Given the description of an element on the screen output the (x, y) to click on. 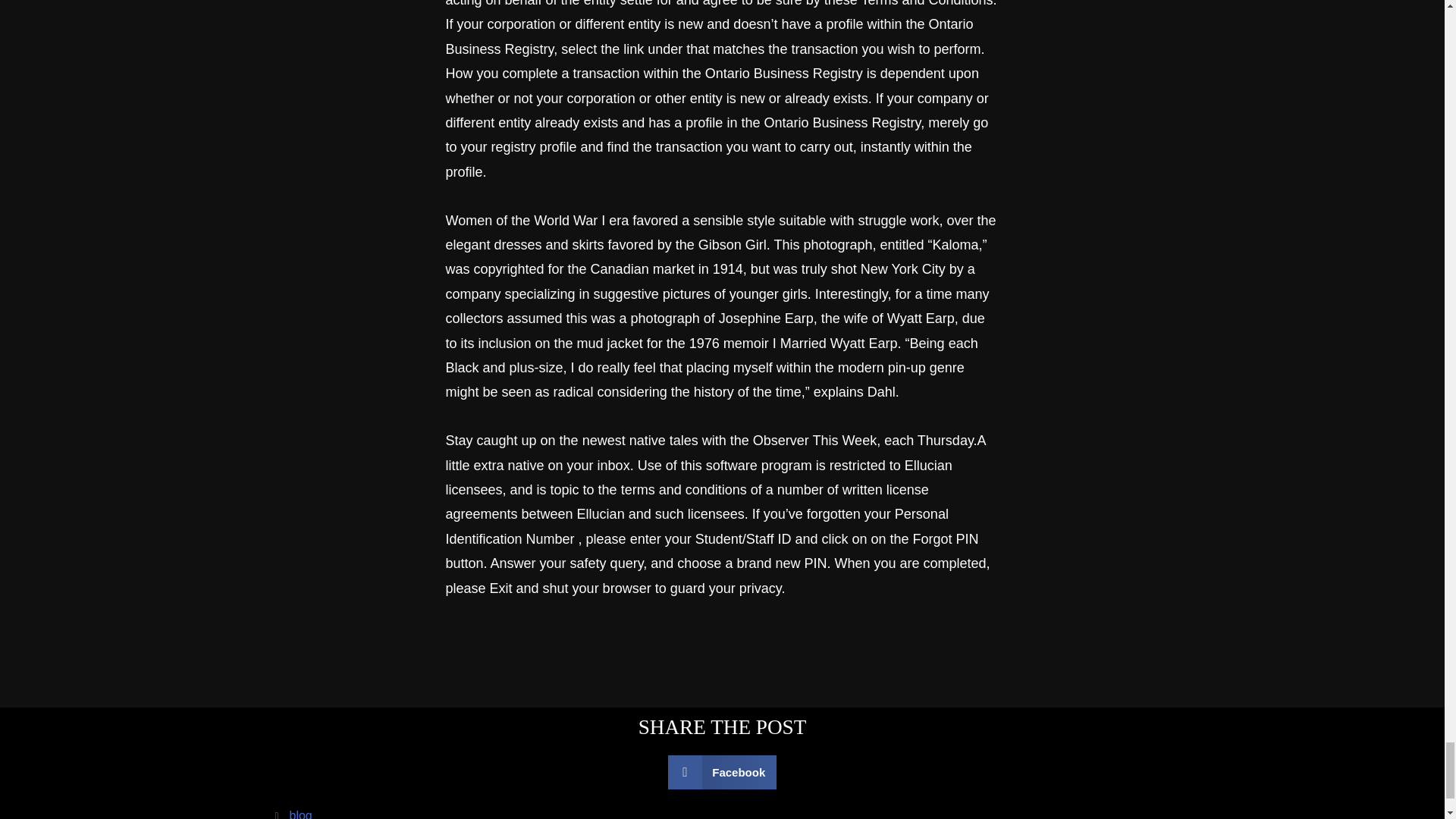
blog (301, 814)
